Given the description of an element on the screen output the (x, y) to click on. 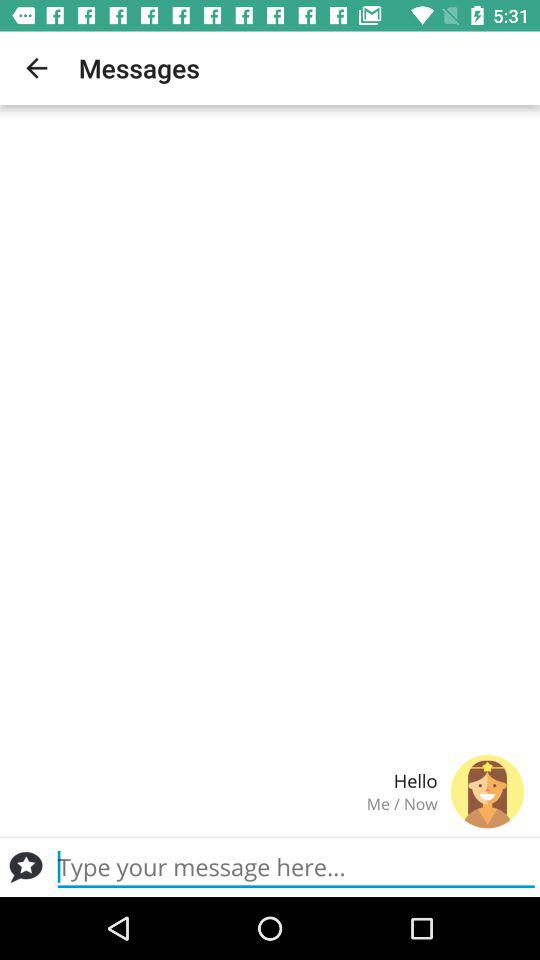
message text box (296, 867)
